Given the description of an element on the screen output the (x, y) to click on. 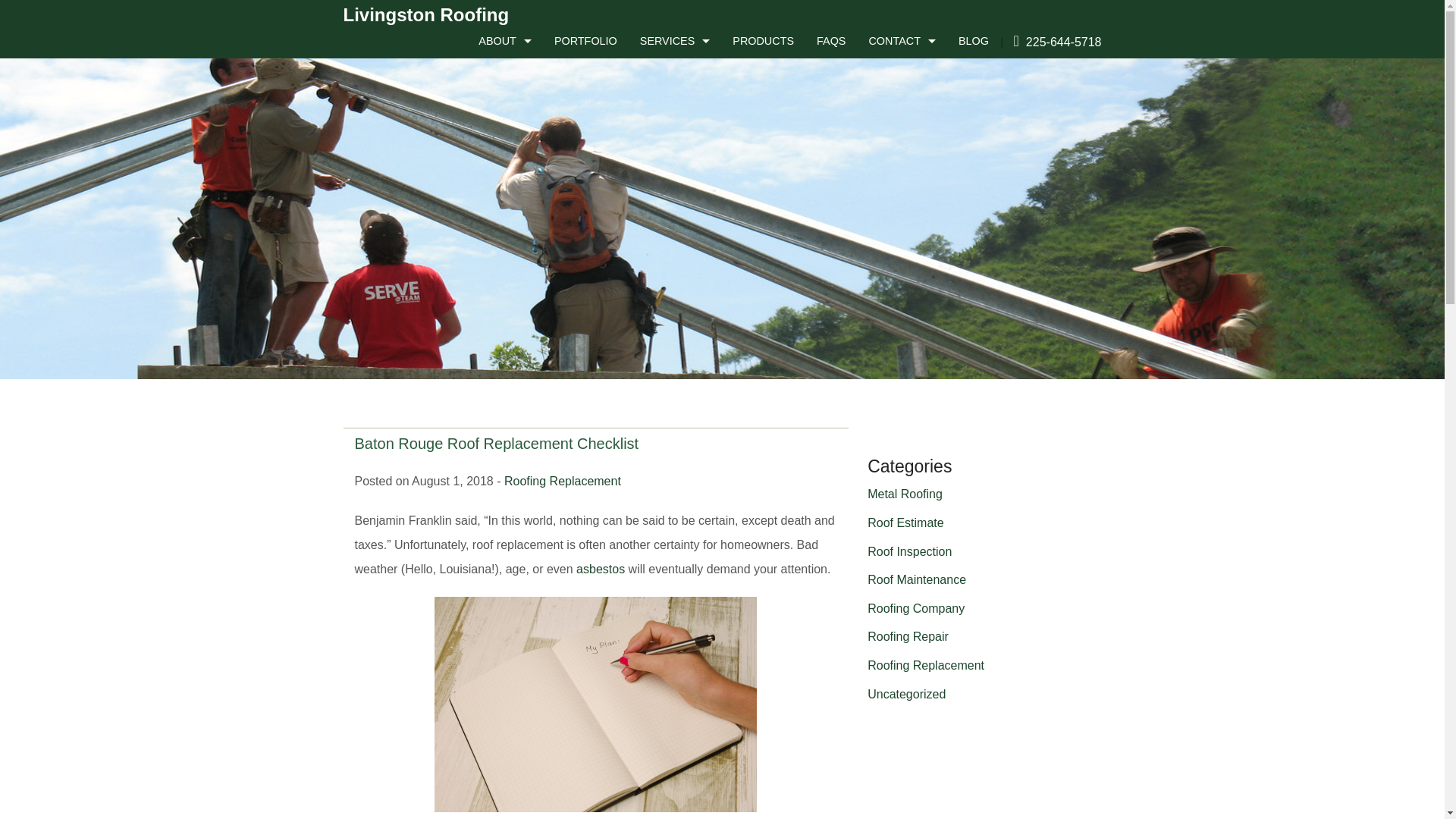
CUSTOMIZE YOUR ROOF (900, 111)
ABOUT (505, 41)
FAQS (831, 41)
Baton Rouge Roof Replacement Checklist 1 (595, 704)
HAIL AND STORM DAMAGE (674, 111)
BLOG (973, 41)
PORTFOLIO (585, 41)
PRODUCTS (762, 41)
ROOF REPAIR (674, 147)
TESTIMONIALS (504, 76)
ROOF REPLACEMENT (674, 182)
CONTACT US (900, 76)
ABOUT US (504, 111)
SERVICES (675, 41)
COMMUNITY SERVICE (504, 147)
